Given the description of an element on the screen output the (x, y) to click on. 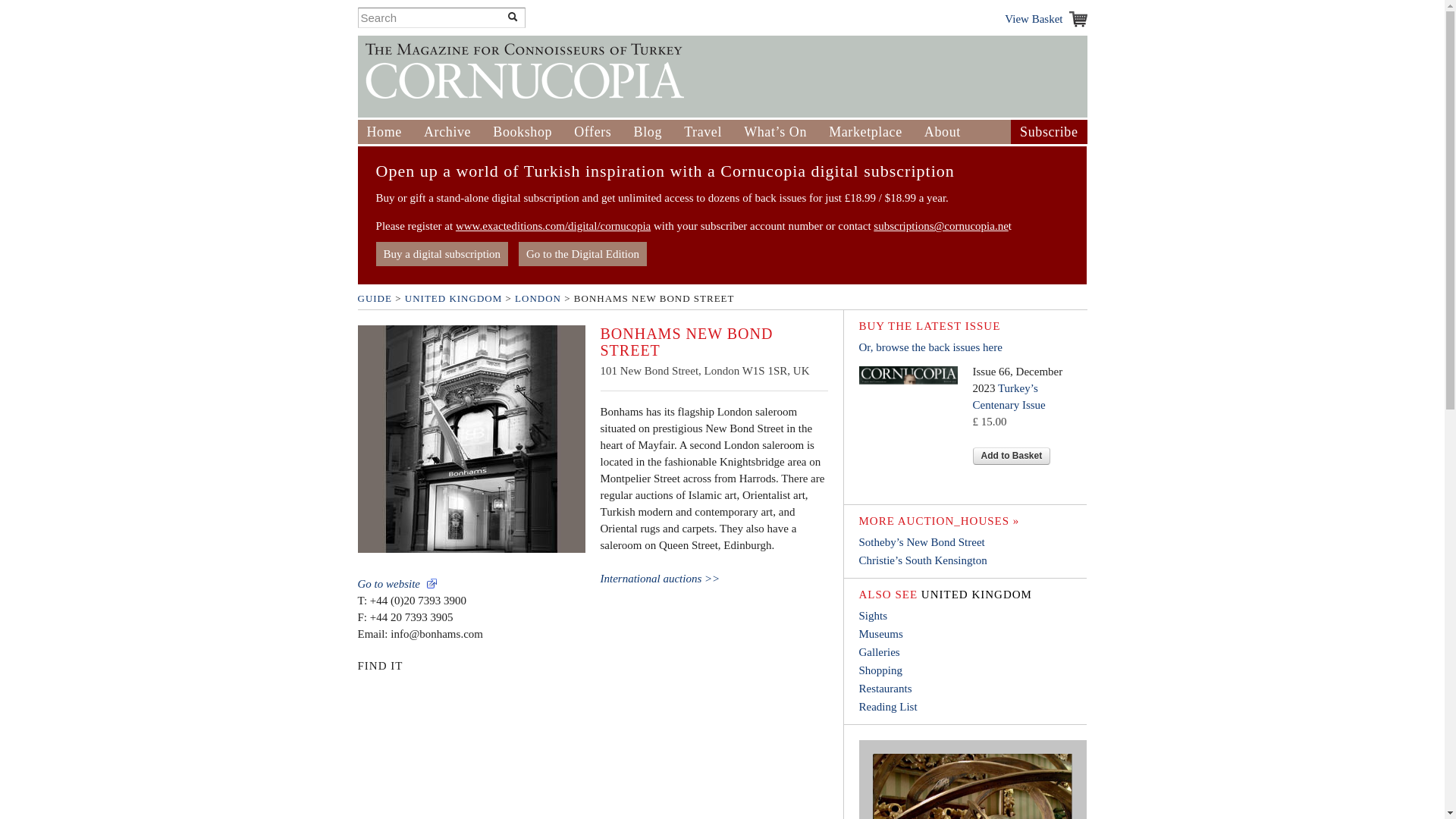
Archive (446, 131)
Travel (703, 131)
Buy a digital subscription (441, 253)
UNITED KINGDOM (453, 297)
About (942, 131)
View Basket (1045, 18)
Bookshop (522, 131)
Subscribe (1048, 131)
Blog (647, 131)
Go to the Digital Edition (582, 253)
